Given the description of an element on the screen output the (x, y) to click on. 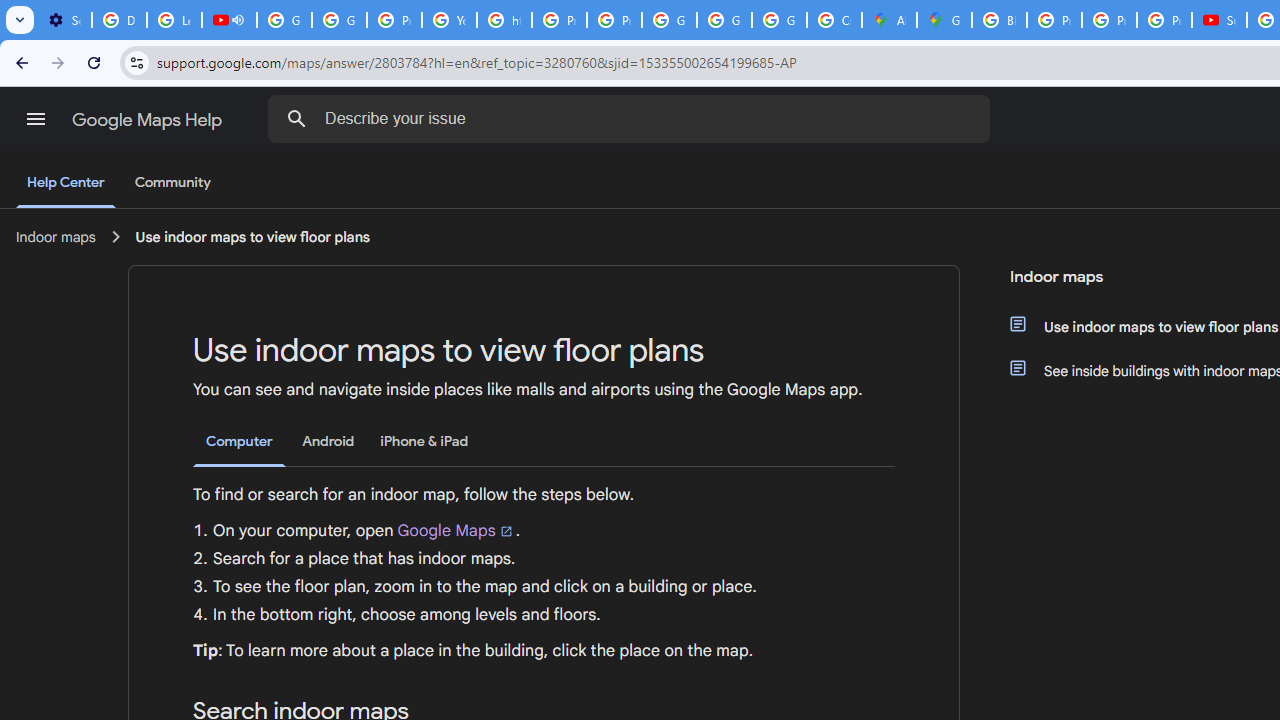
Google Maps Help (148, 119)
Learn how to find your photos - Google Photos Help (174, 20)
Google Account Help (284, 20)
Computer (239, 442)
Google Maps (943, 20)
Describe your issue (632, 118)
Subscriptions - YouTube (1218, 20)
Create your Google Account (833, 20)
Use indoor maps to view floor plans (251, 237)
Indoor maps (55, 237)
